Given the description of an element on the screen output the (x, y) to click on. 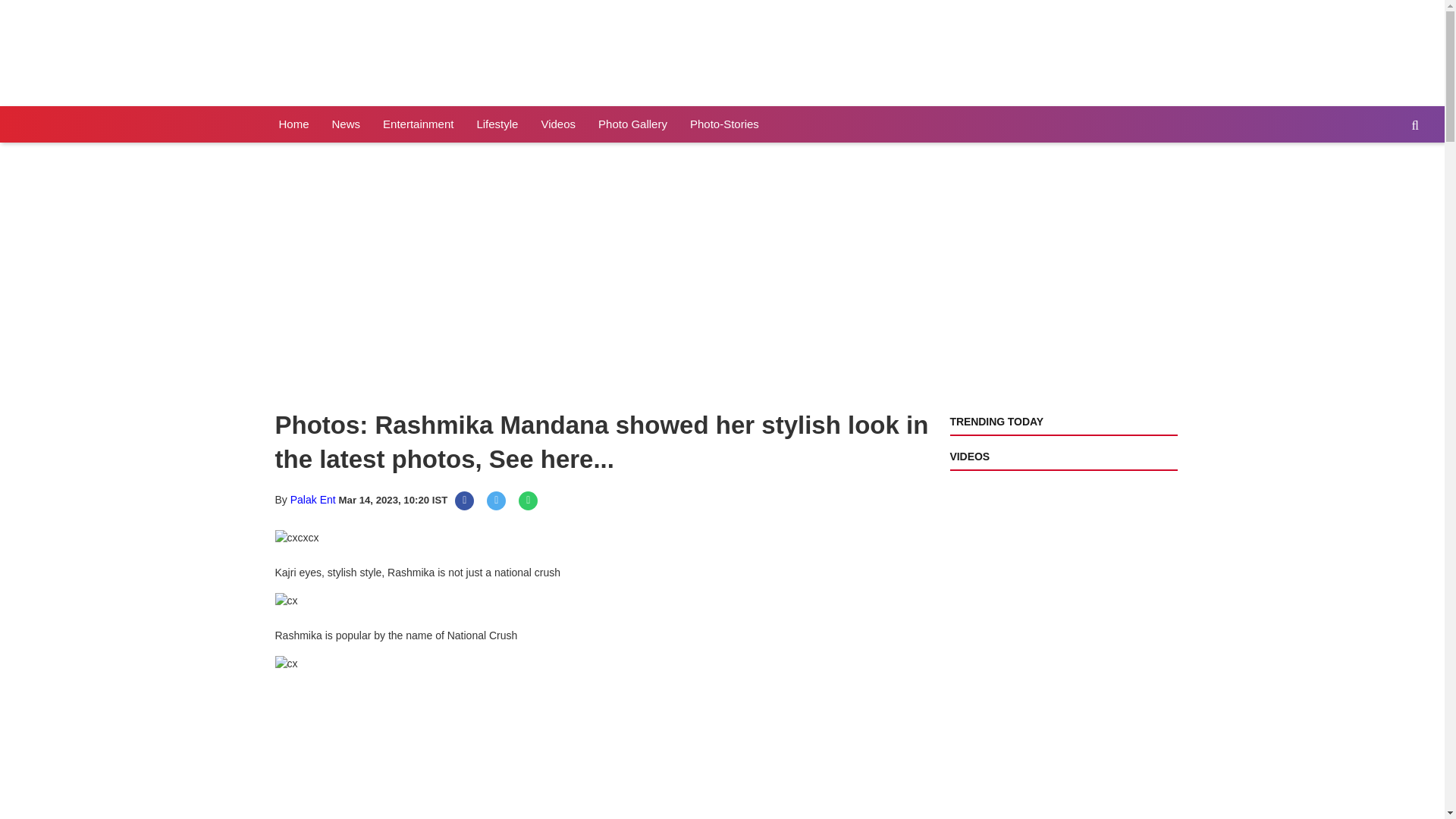
News (346, 124)
Photo-Stories (724, 124)
YouTube video player (478, 277)
Palak Ent (312, 499)
Entertainment (417, 124)
Videos (557, 124)
Photo Gallery (632, 124)
VIDEOS (968, 456)
Lifestyle (496, 124)
TRENDING TODAY (995, 421)
Home (293, 124)
